Given the description of an element on the screen output the (x, y) to click on. 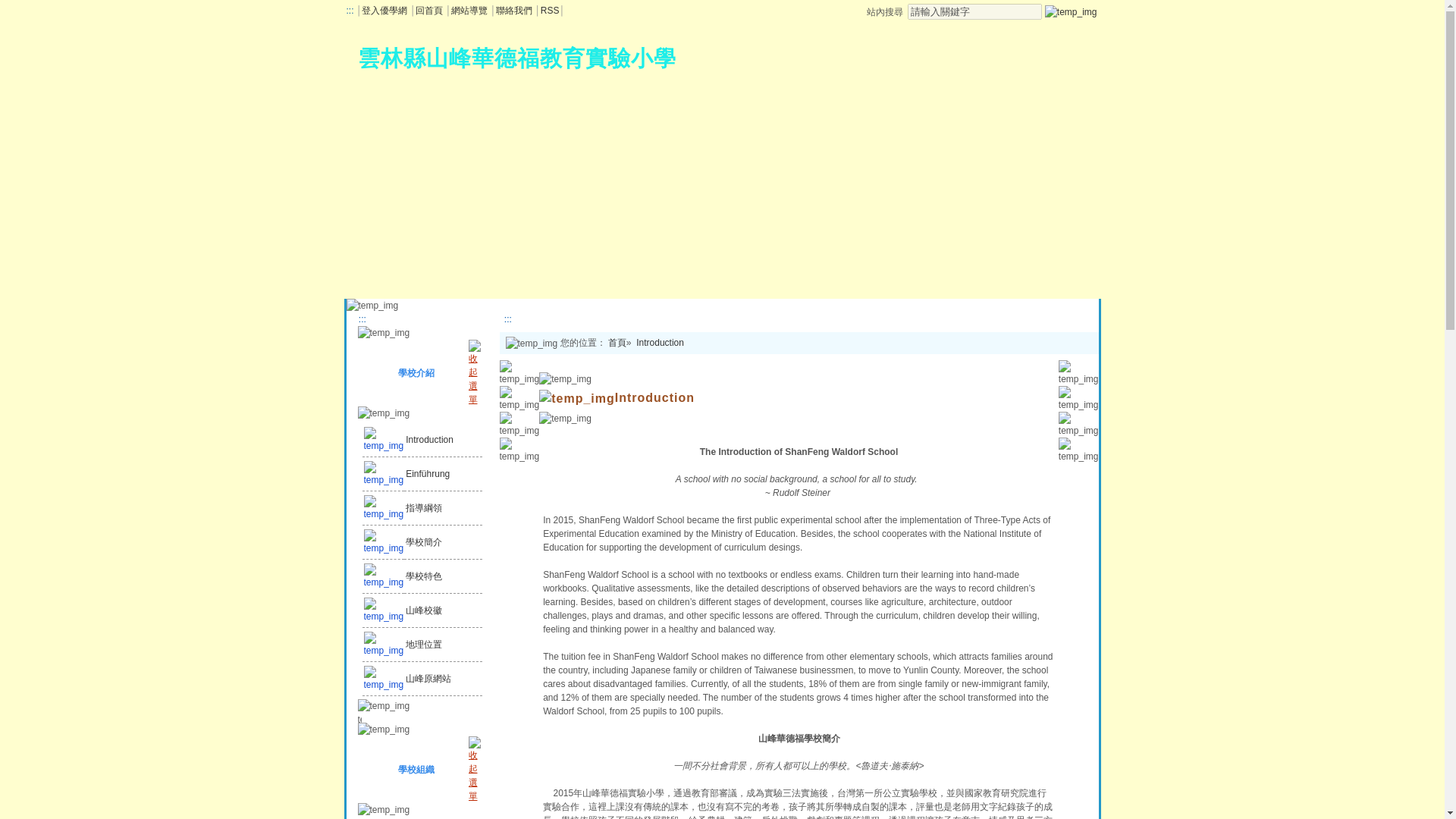
RSS (549, 9)
Introduction (429, 439)
RSS (549, 9)
 ::: (507, 318)
 ::: (361, 318)
Introduction (442, 440)
Introduction (660, 342)
